Given the description of an element on the screen output the (x, y) to click on. 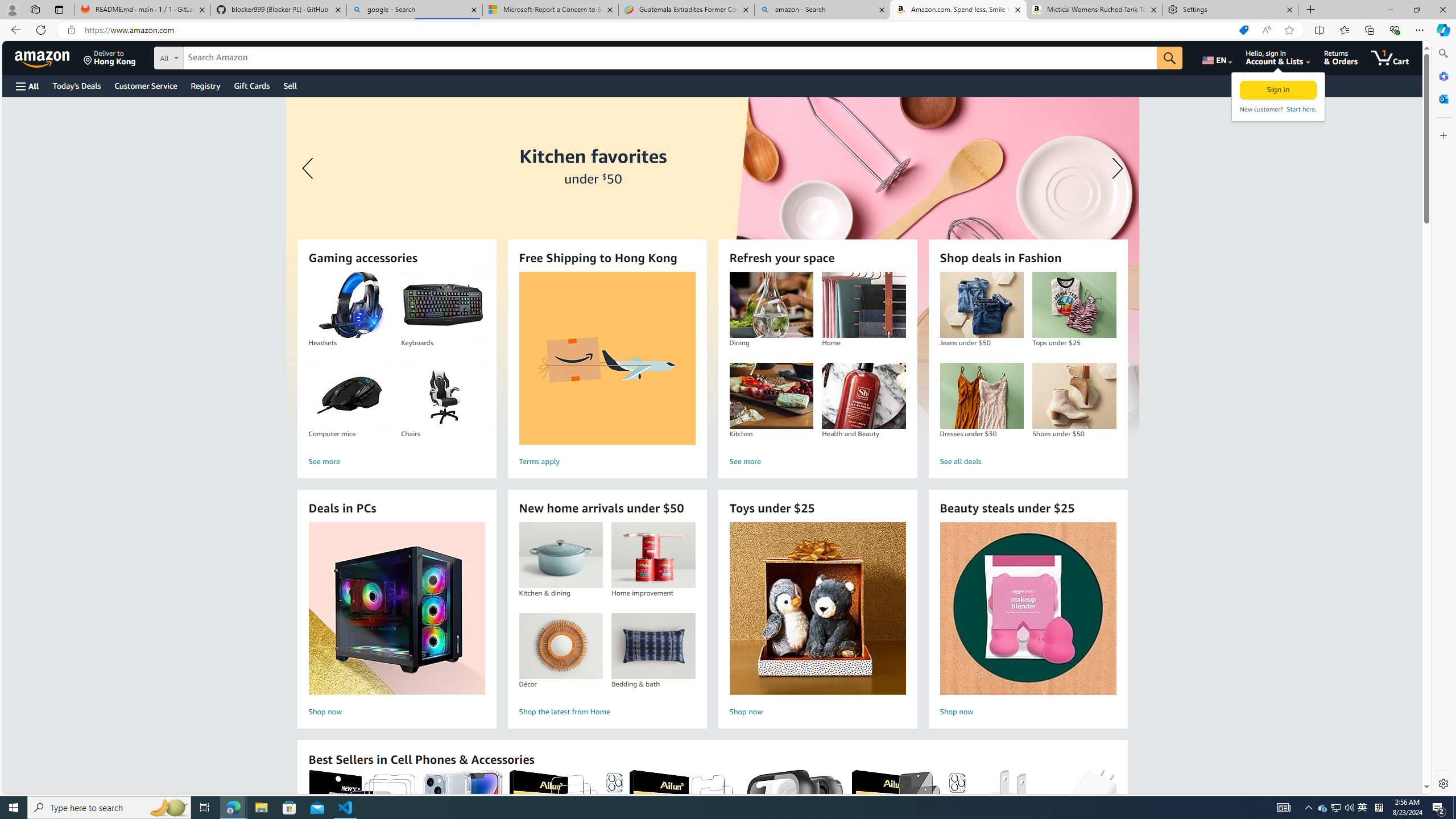
Today's Deals (76, 85)
Personal Profile (12, 9)
Home improvement (652, 555)
Next slide (1114, 168)
Shop Kitchen favorites (711, 267)
Customer Service (145, 85)
Chairs (442, 395)
Dining (770, 304)
Restore (1416, 9)
Minimize (1390, 9)
Health and Beauty (863, 395)
Keyboards (442, 304)
Hello, sign in Account & Lists (1278, 57)
